Given the description of an element on the screen output the (x, y) to click on. 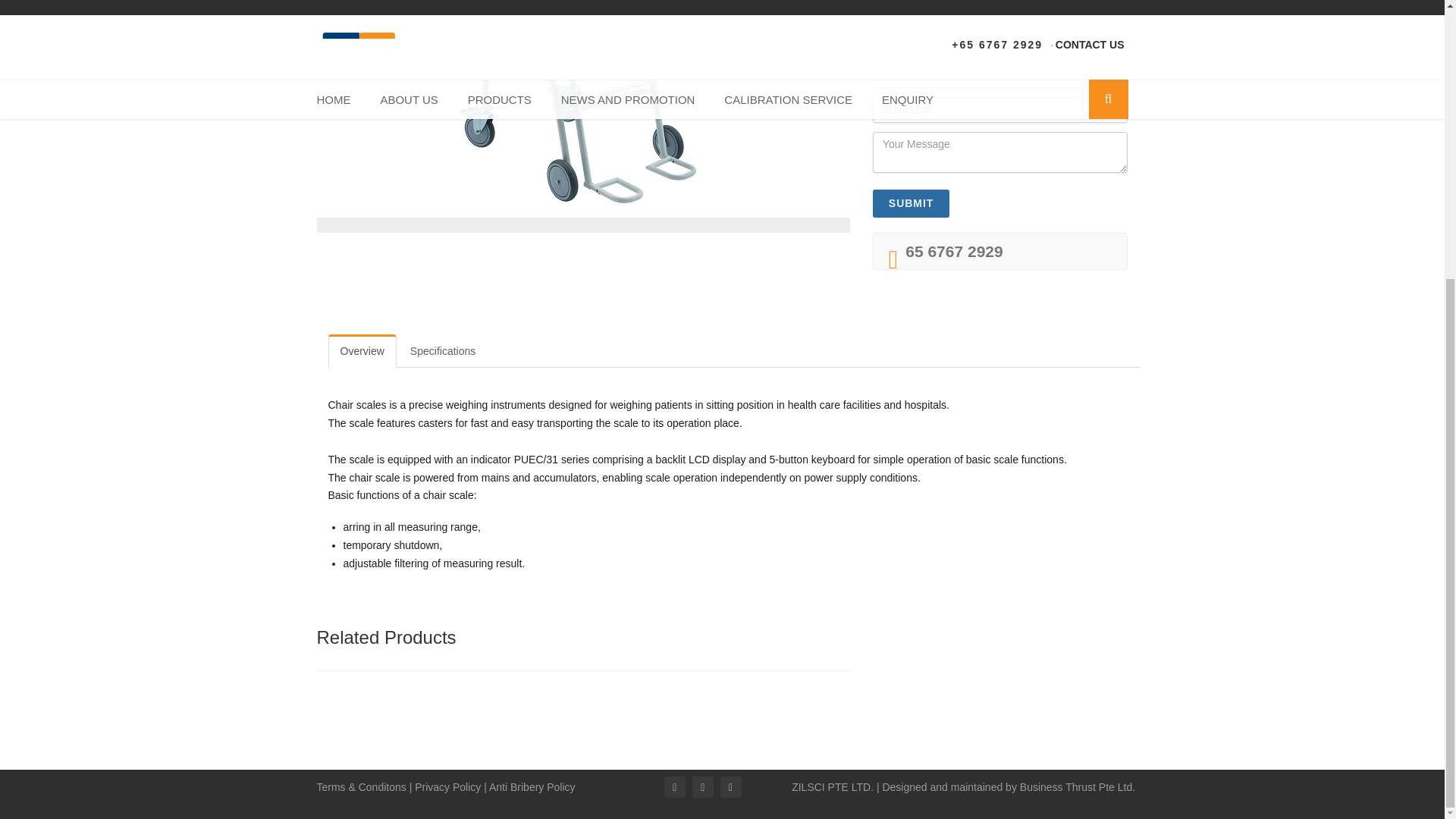
Submit (911, 203)
Submit (911, 203)
Specifications (442, 350)
Overview (361, 350)
